Given the description of an element on the screen output the (x, y) to click on. 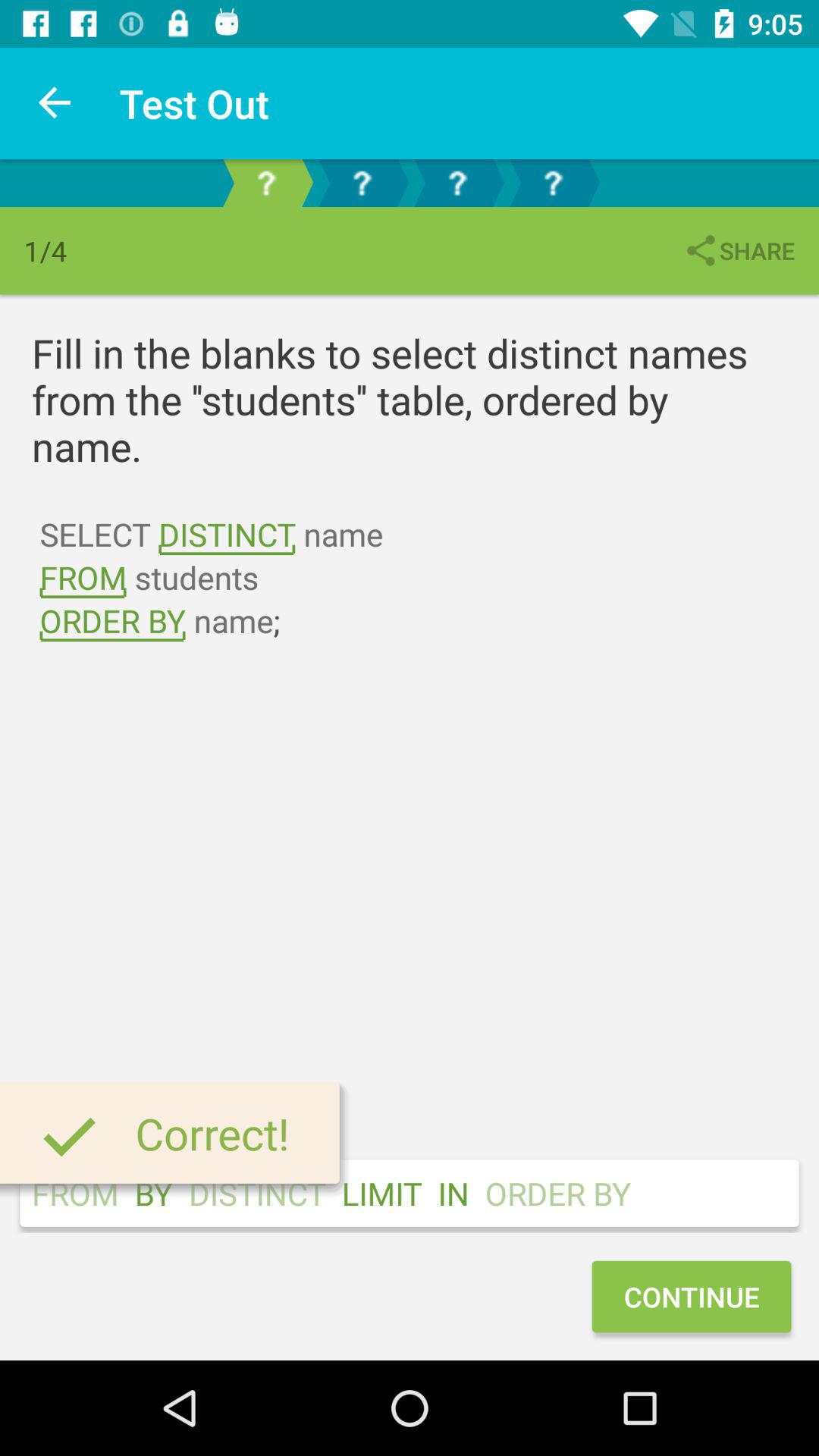
press the share (738, 250)
